Given the description of an element on the screen output the (x, y) to click on. 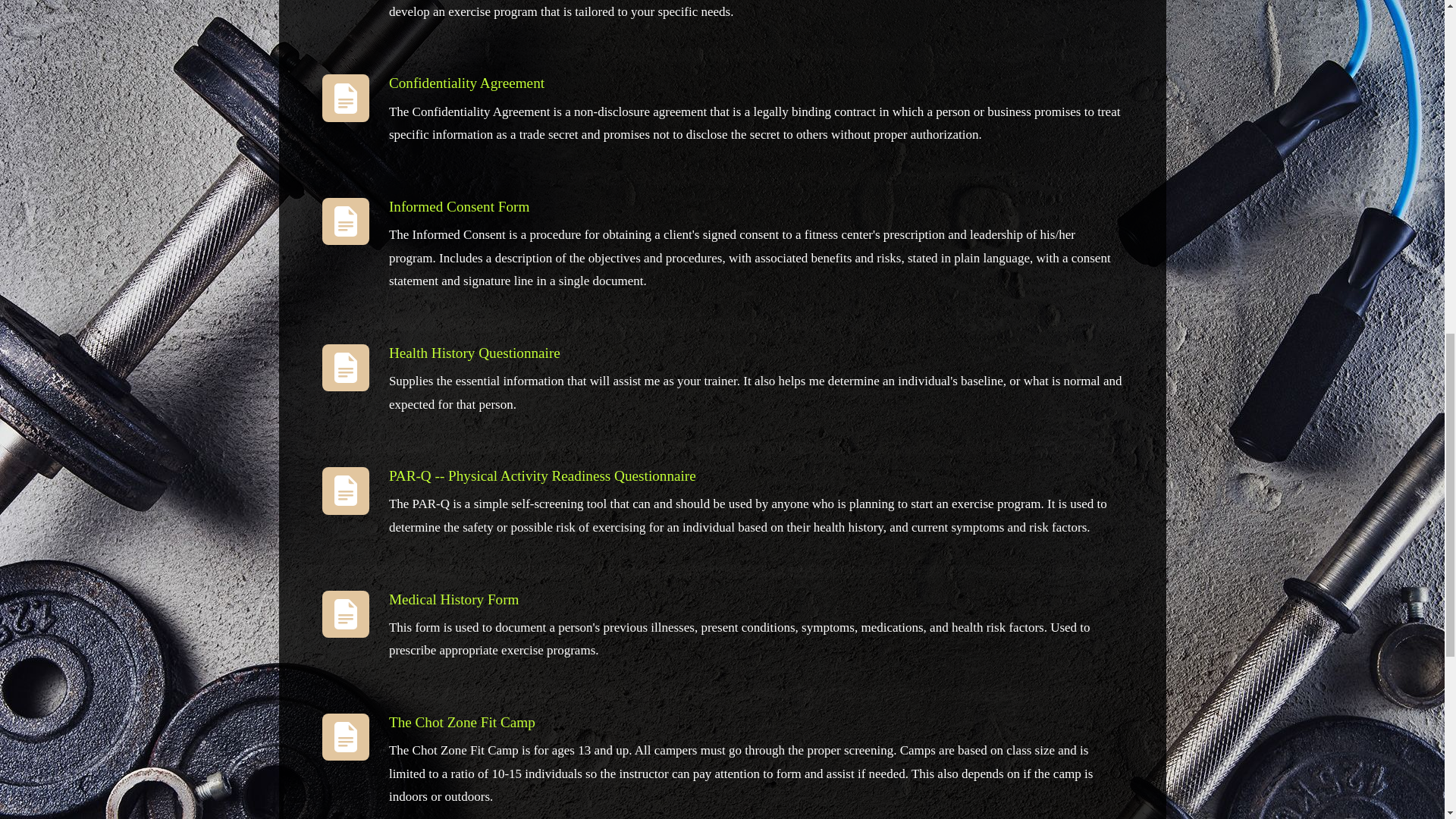
Confidentiality Agreement (466, 82)
